Given the description of an element on the screen output the (x, y) to click on. 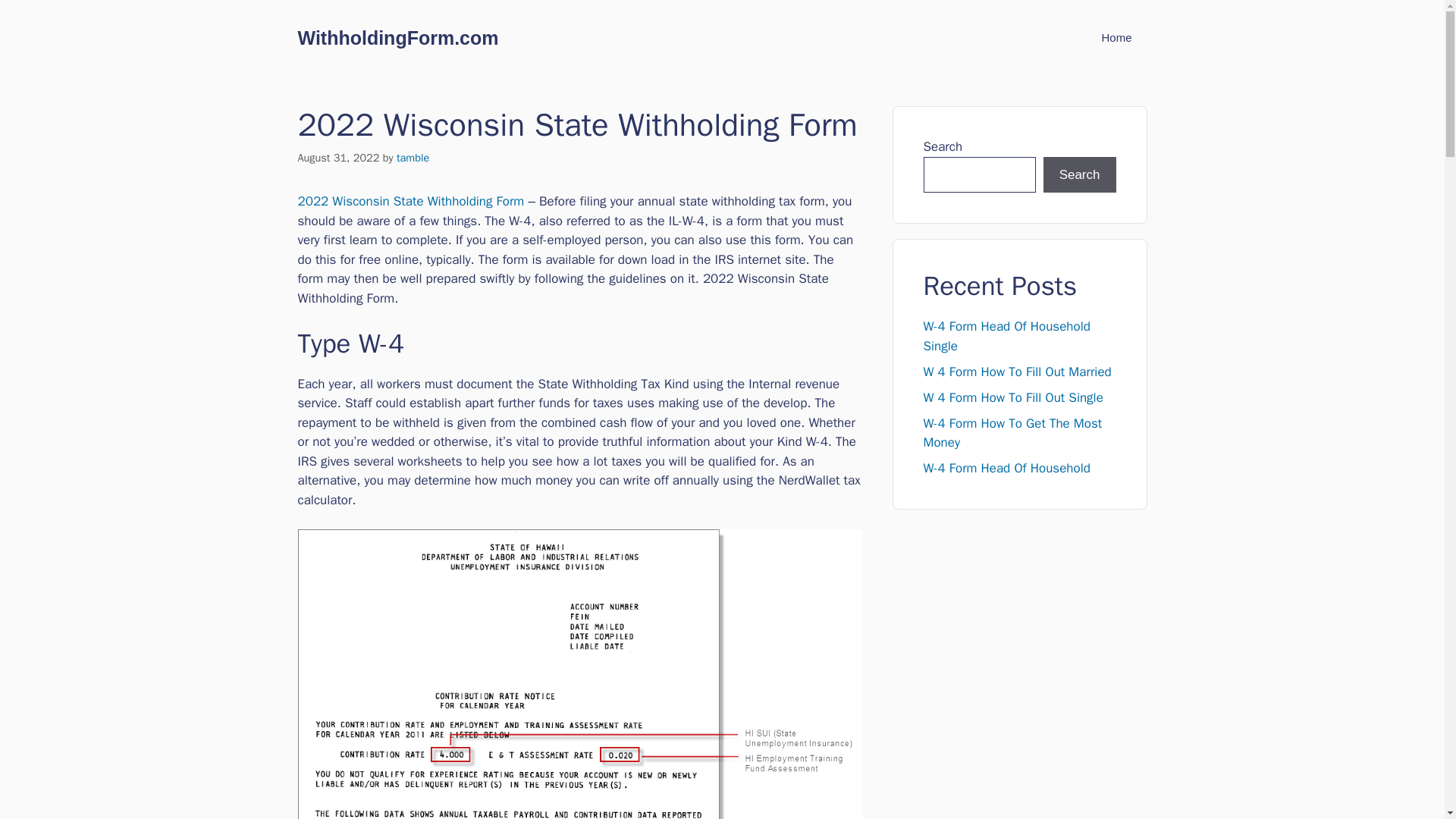
W 4 Form How To Fill Out Married (1017, 371)
W-4 Form How To Get The Most Money (1012, 433)
View all posts by tamble (412, 157)
W 4 Form How To Fill Out Single (1013, 397)
2022 Wisconsin State Withholding Form (410, 201)
Home (1116, 37)
W-4 Form Head Of Household Single (1006, 335)
WithholdingForm.com (397, 37)
W-4 Form Head Of Household (1006, 467)
tamble (412, 157)
Search (1079, 174)
